Given the description of an element on the screen output the (x, y) to click on. 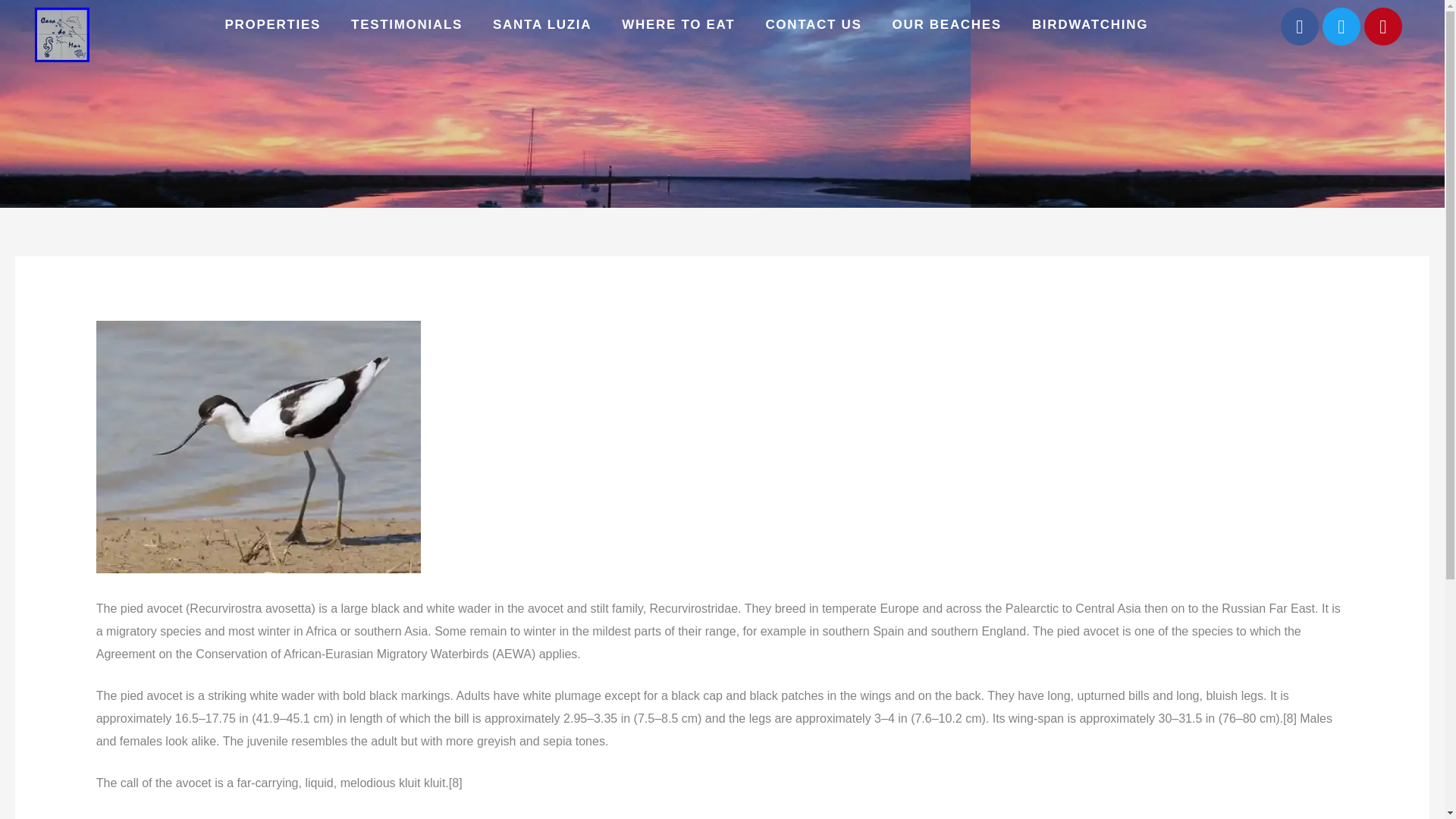
WHERE TO EAT (678, 24)
CONTACT US (812, 24)
PROPERTIES (272, 24)
SANTA LUZIA (542, 24)
BIRDWATCHING (1089, 24)
Casa do Mar Properties (272, 24)
TESTIMONIALS (406, 24)
OUR BEACHES (946, 24)
